Given the description of an element on the screen output the (x, y) to click on. 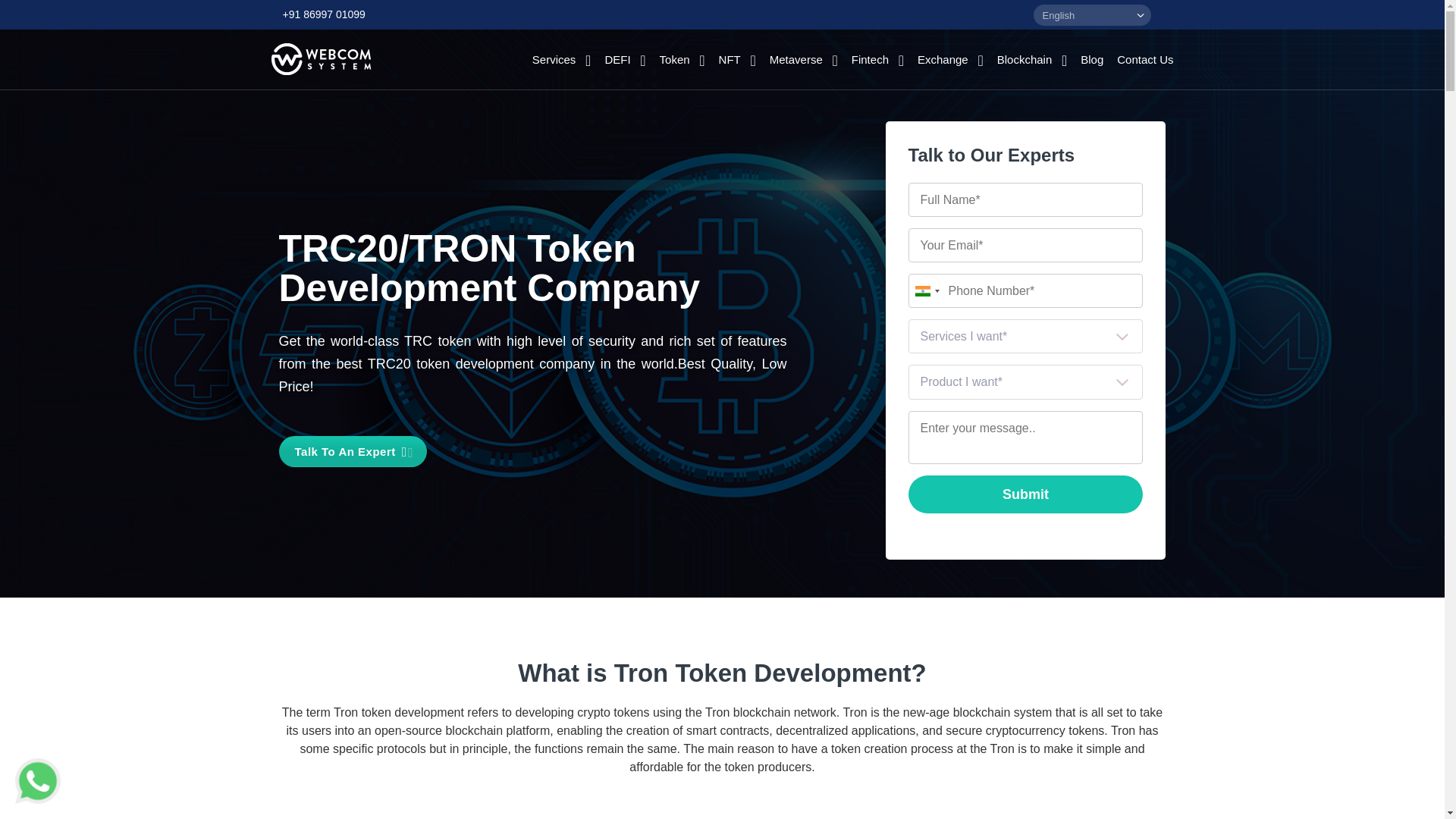
DEFI (624, 59)
Services (561, 59)
Metaverse (804, 59)
NFT (737, 59)
Token (681, 59)
Fintech (877, 59)
Submit (1025, 494)
